Given the description of an element on the screen output the (x, y) to click on. 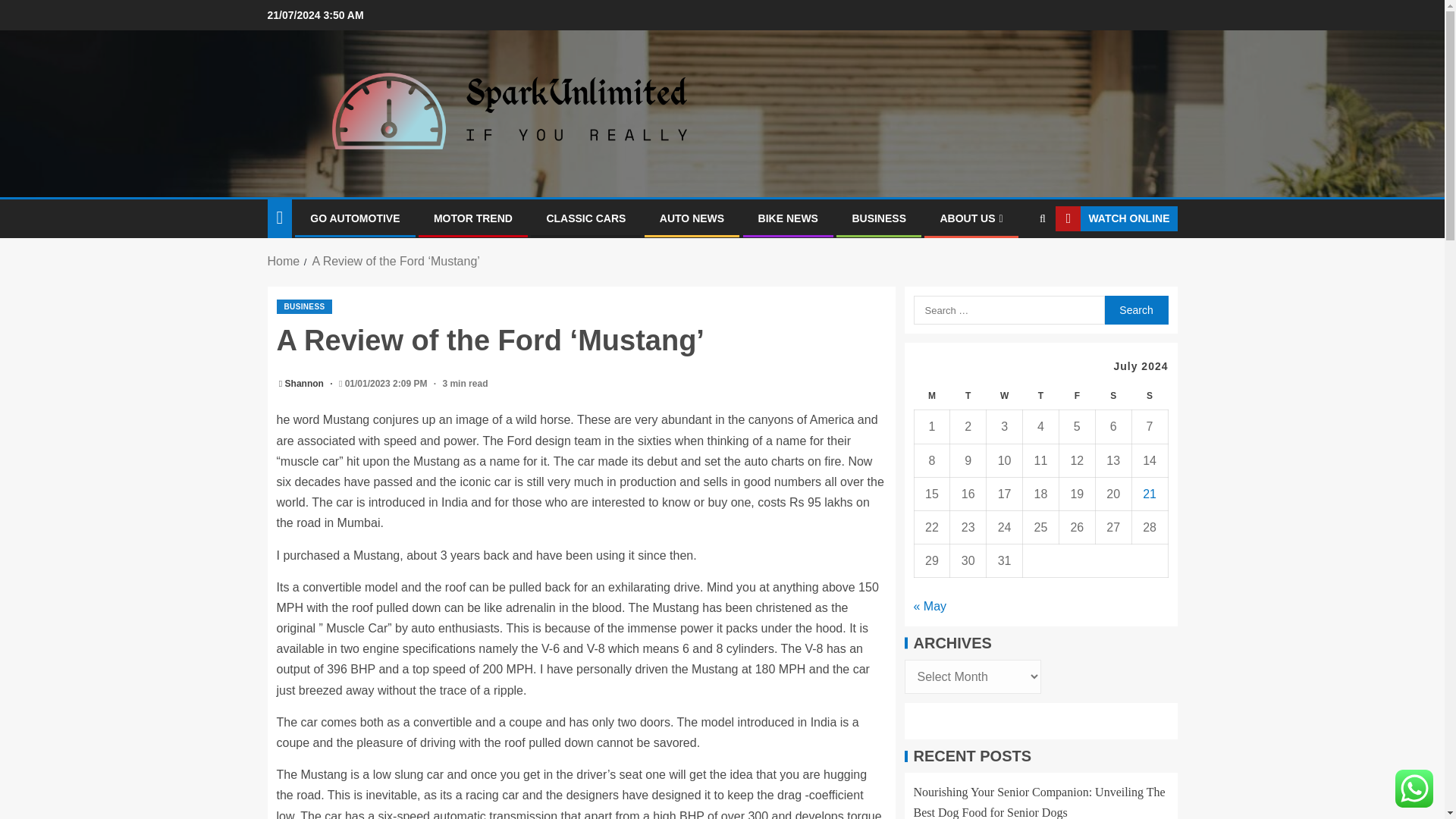
Search (1013, 265)
ABOUT US (971, 218)
AUTO NEWS (691, 218)
Search (1135, 309)
BUSINESS (878, 218)
GO AUTOMOTIVE (354, 218)
Search (1135, 309)
BIKE NEWS (788, 218)
MOTOR TREND (472, 218)
Monday (932, 396)
Wednesday (1005, 396)
CLASSIC CARS (586, 218)
Friday (1076, 396)
BUSINESS (303, 306)
Saturday (1112, 396)
